Given the description of an element on the screen output the (x, y) to click on. 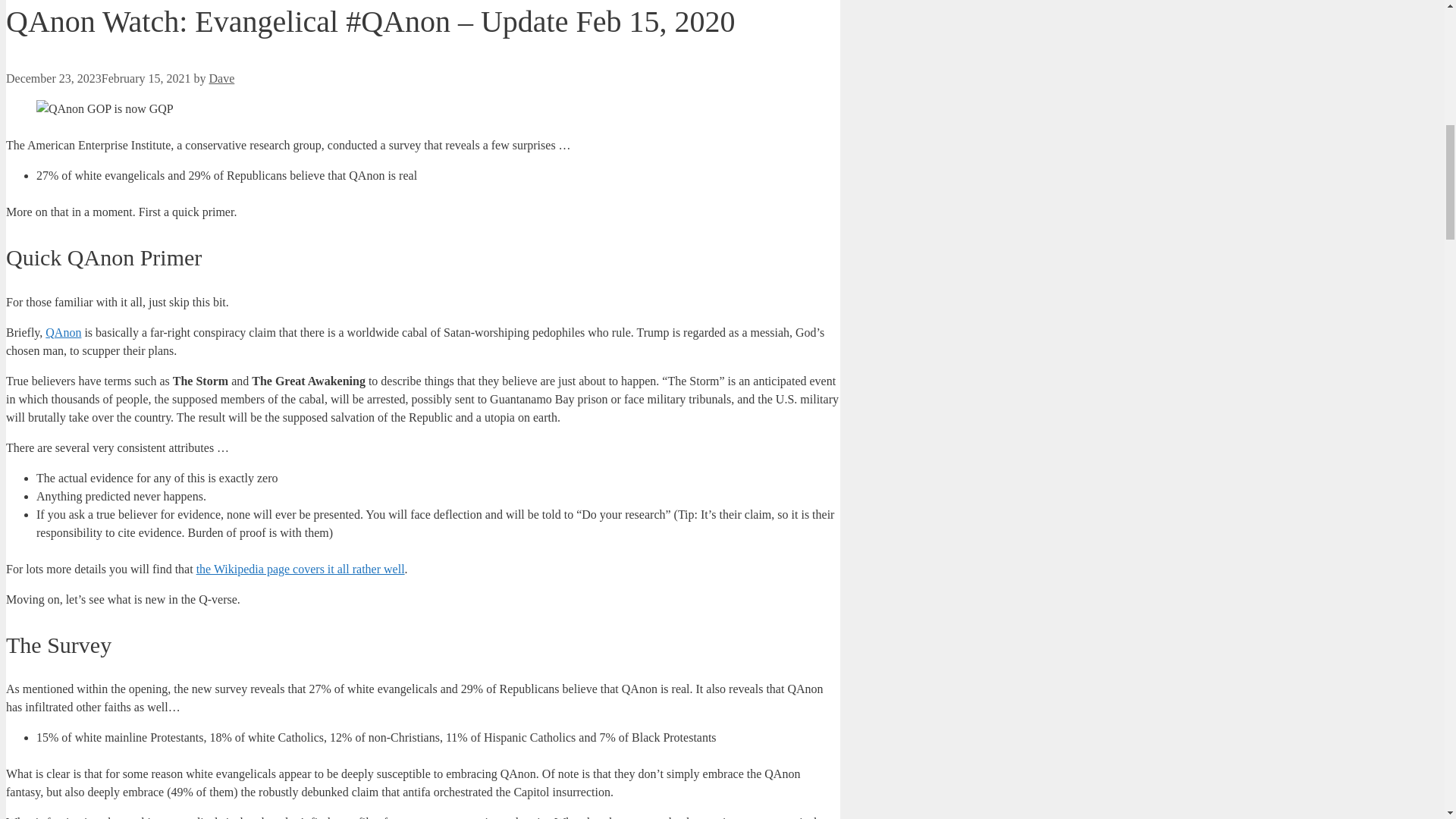
View all posts by Dave (221, 78)
QAnon (63, 332)
Dave (221, 78)
the Wikipedia page covers it all rather well (300, 568)
